Given the description of an element on the screen output the (x, y) to click on. 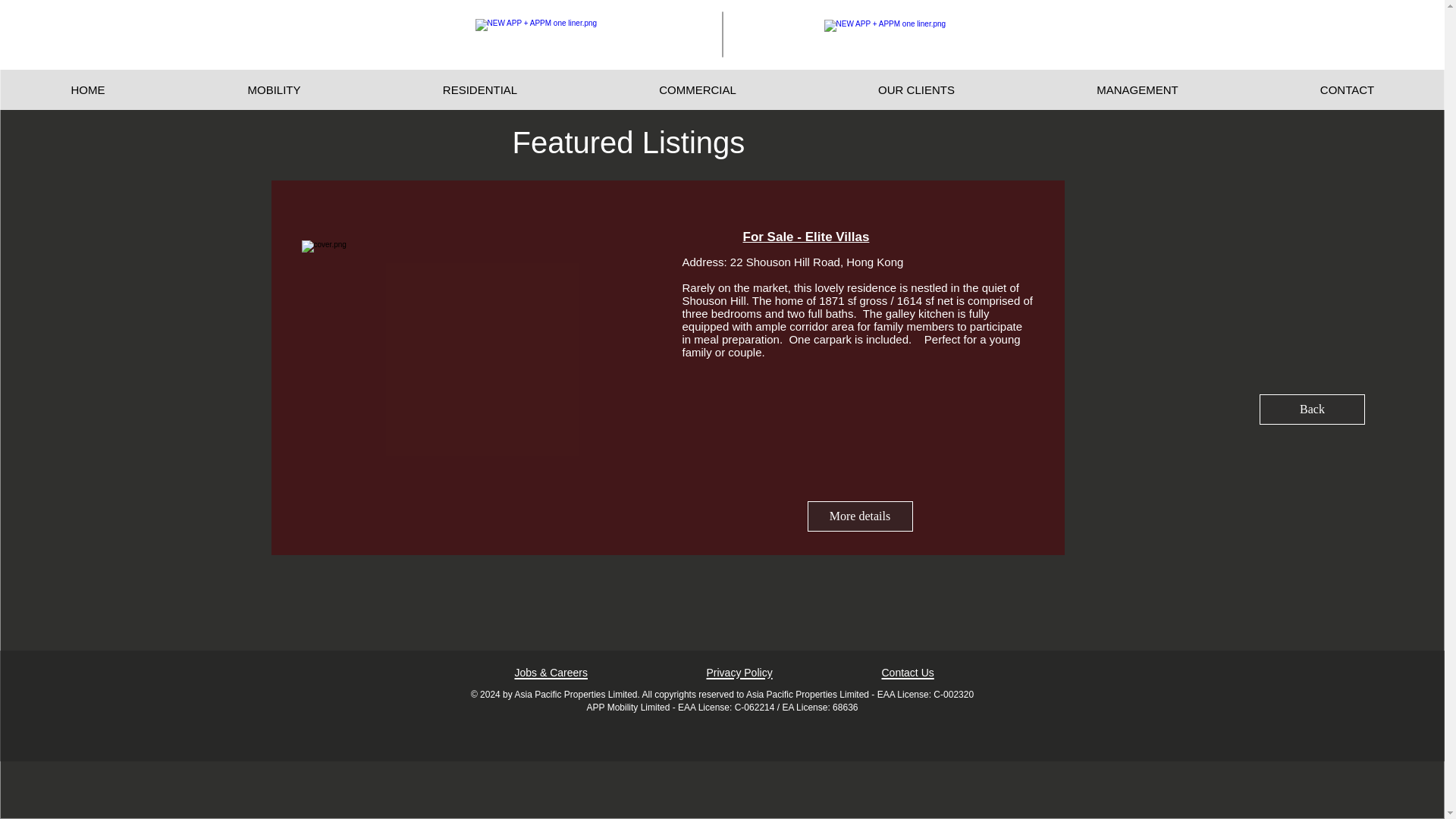
HOME (88, 89)
MANAGEMENT (1137, 89)
Industrial Buiding for Sale (482, 343)
MOBILITY (273, 89)
Asia Pacific Properties Home Page (909, 34)
COMMERCIAL (697, 89)
More details (859, 516)
Asia Pacific Properties Home Page (549, 33)
OUR CLIENTS (915, 89)
Contact Us (906, 672)
